Given the description of an element on the screen output the (x, y) to click on. 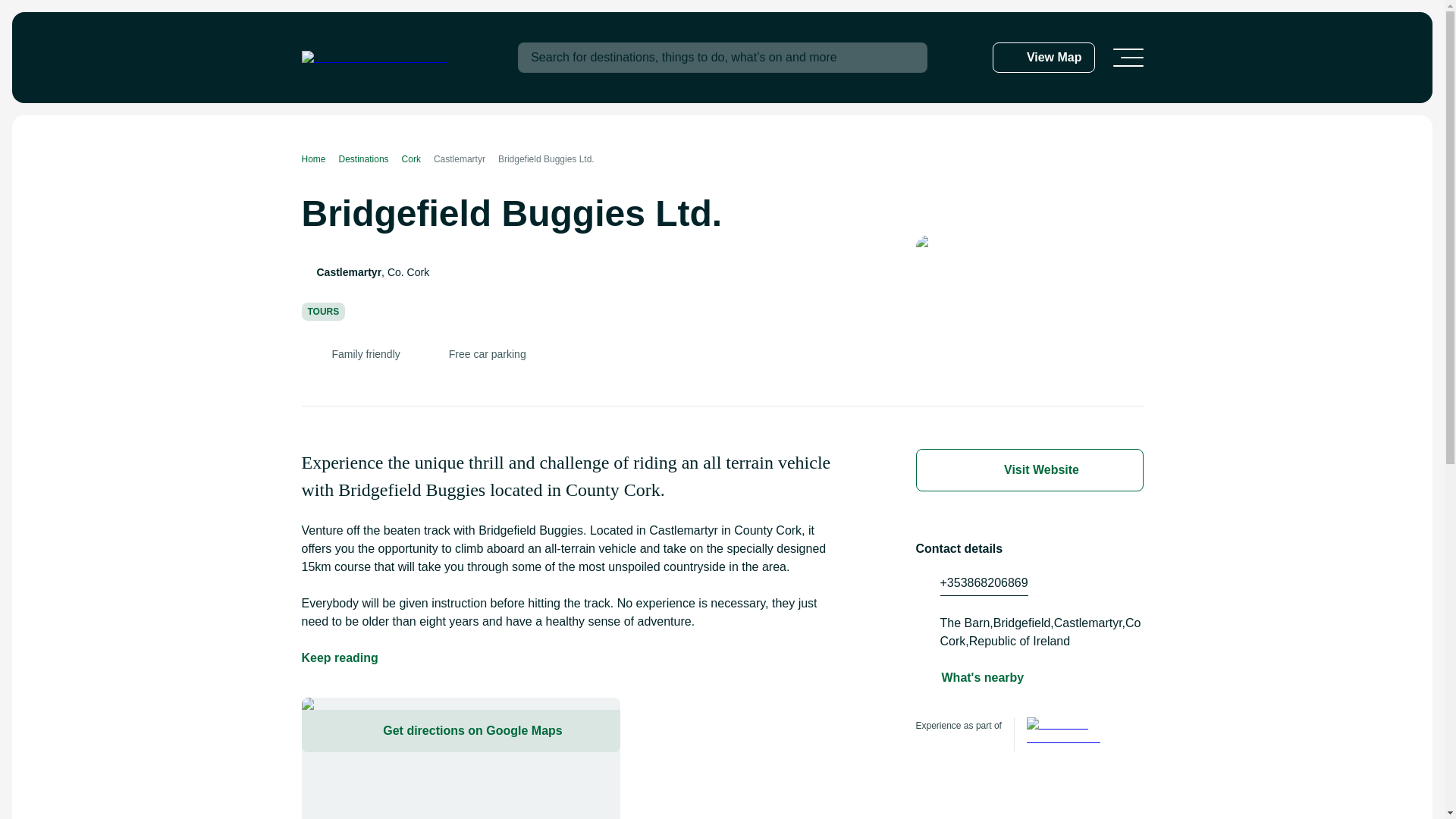
Visit Website (1028, 469)
Destinations (370, 159)
Click to go back to the homepage (374, 57)
Cork (417, 159)
What's nearby (983, 678)
Ireland's Ancient East (1070, 734)
View Map (1043, 57)
Get directions on Google Maps (460, 758)
Keep reading (339, 658)
TOURS (323, 311)
